Given the description of an element on the screen output the (x, y) to click on. 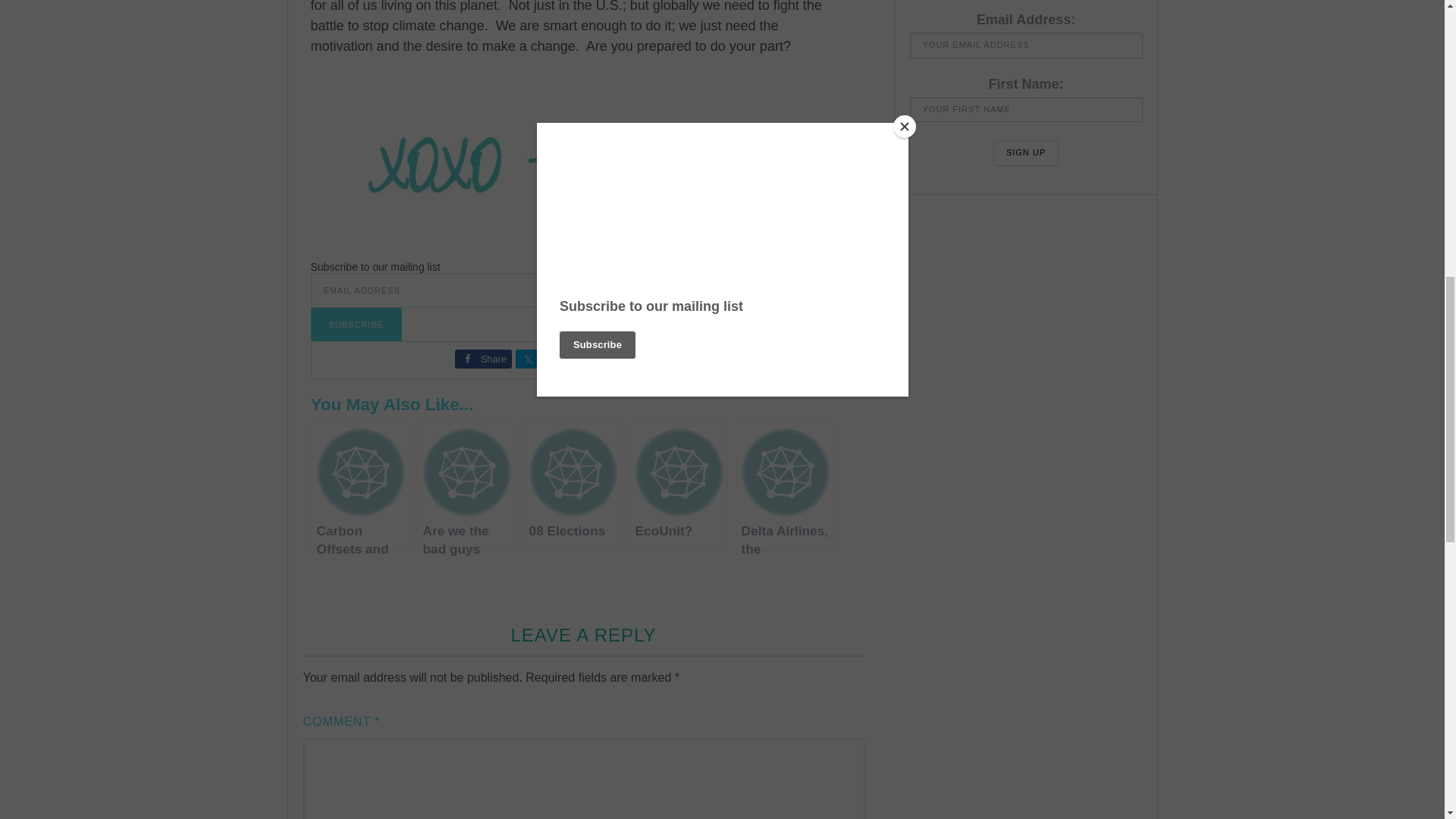
Sign up (1025, 153)
Subscribe (357, 324)
